Given the description of an element on the screen output the (x, y) to click on. 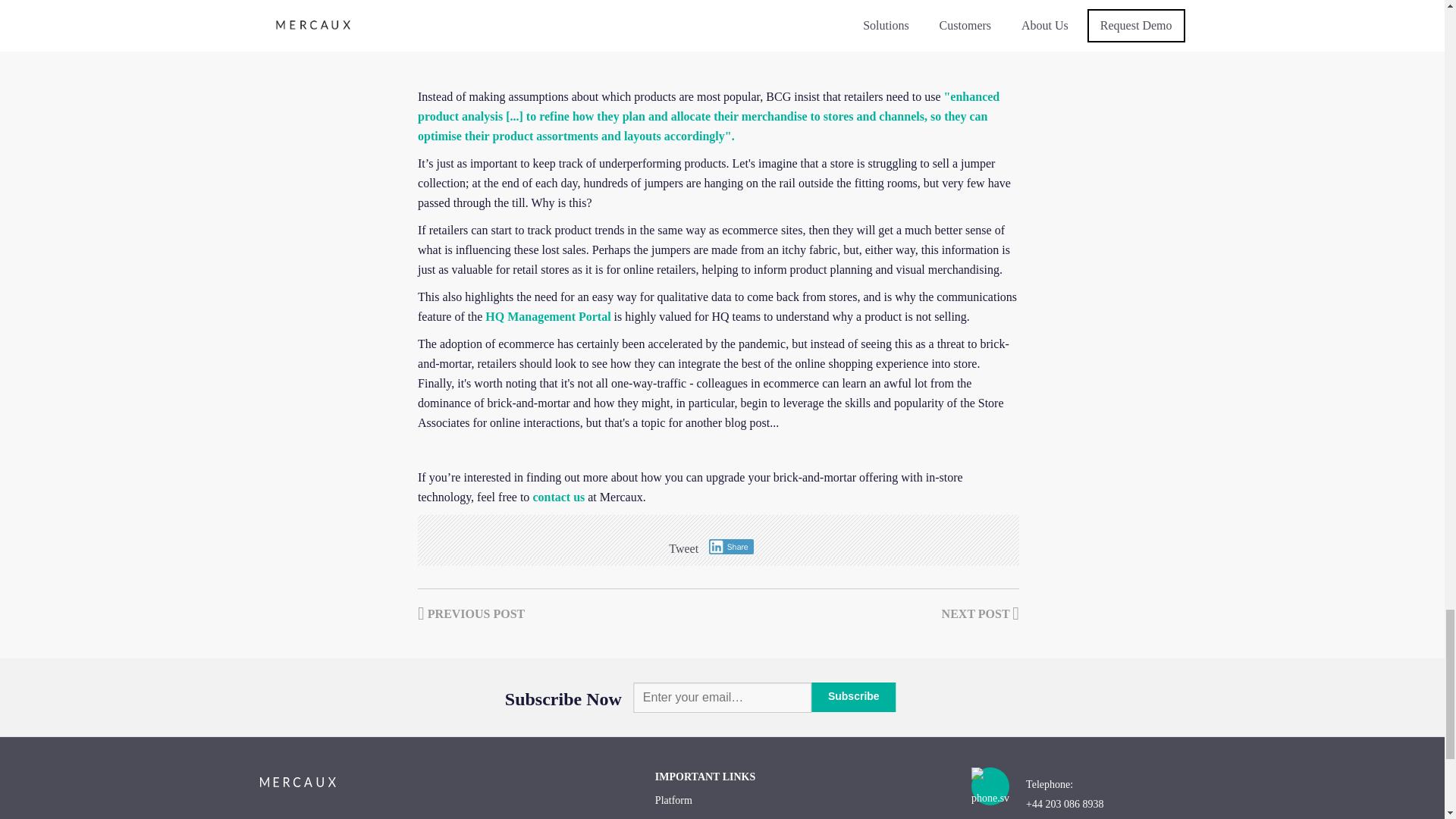
Share (731, 545)
Subscribe (853, 696)
mercaux-logo-white (296, 781)
Platform (801, 800)
NEXT POST (980, 612)
Subscribe (853, 696)
phone.svg (990, 792)
Customers (801, 816)
Tweet (683, 547)
PREVIOUS POST (470, 612)
contact us (558, 495)
HQ Management Portal (547, 315)
